Given the description of an element on the screen output the (x, y) to click on. 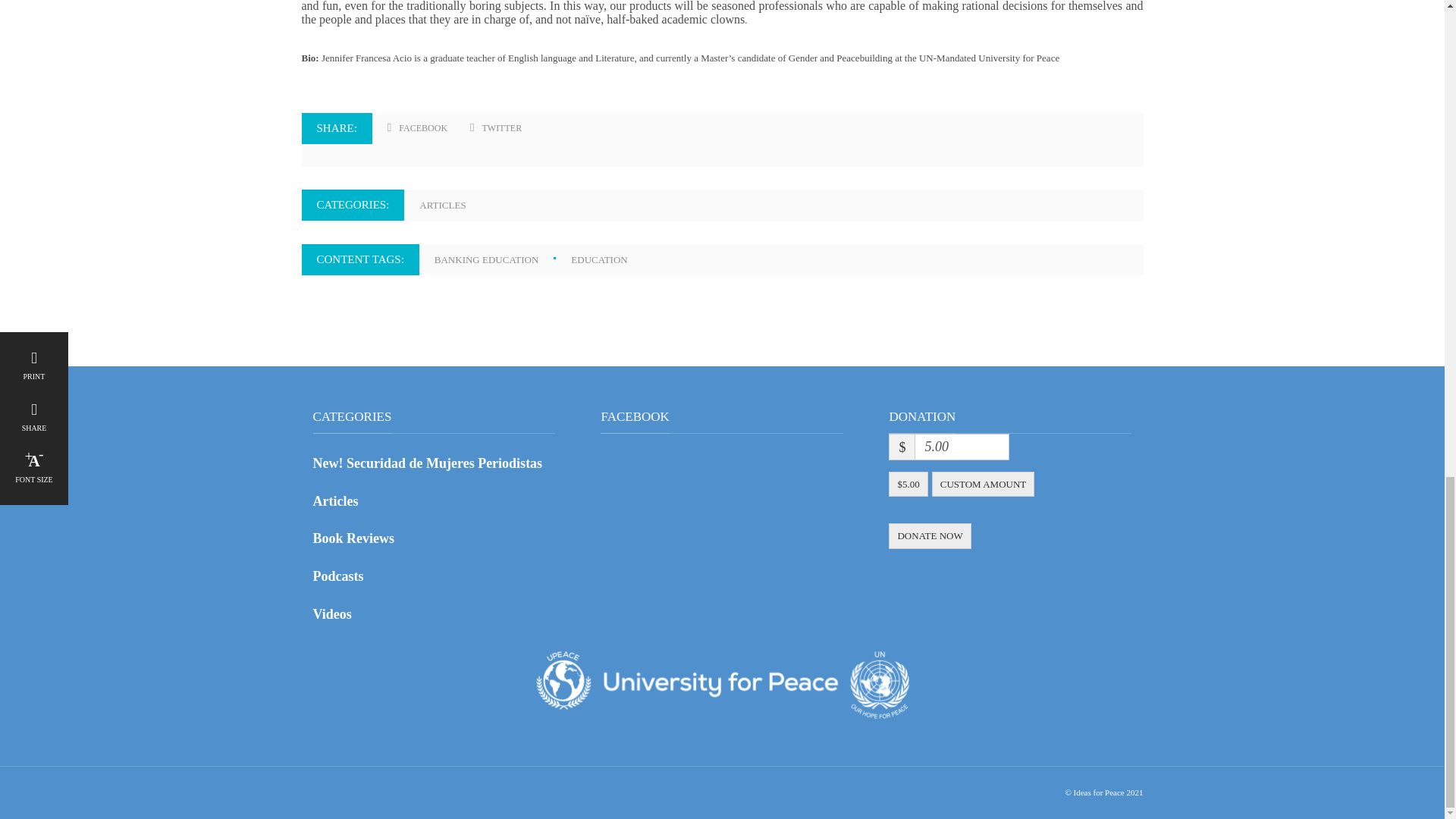
BANKING EDUCATION (502, 259)
FACEBOOK (416, 128)
5.00 (961, 447)
EDUCATION (606, 259)
TWITTER (495, 128)
ARTICLES (449, 204)
